Given the description of an element on the screen output the (x, y) to click on. 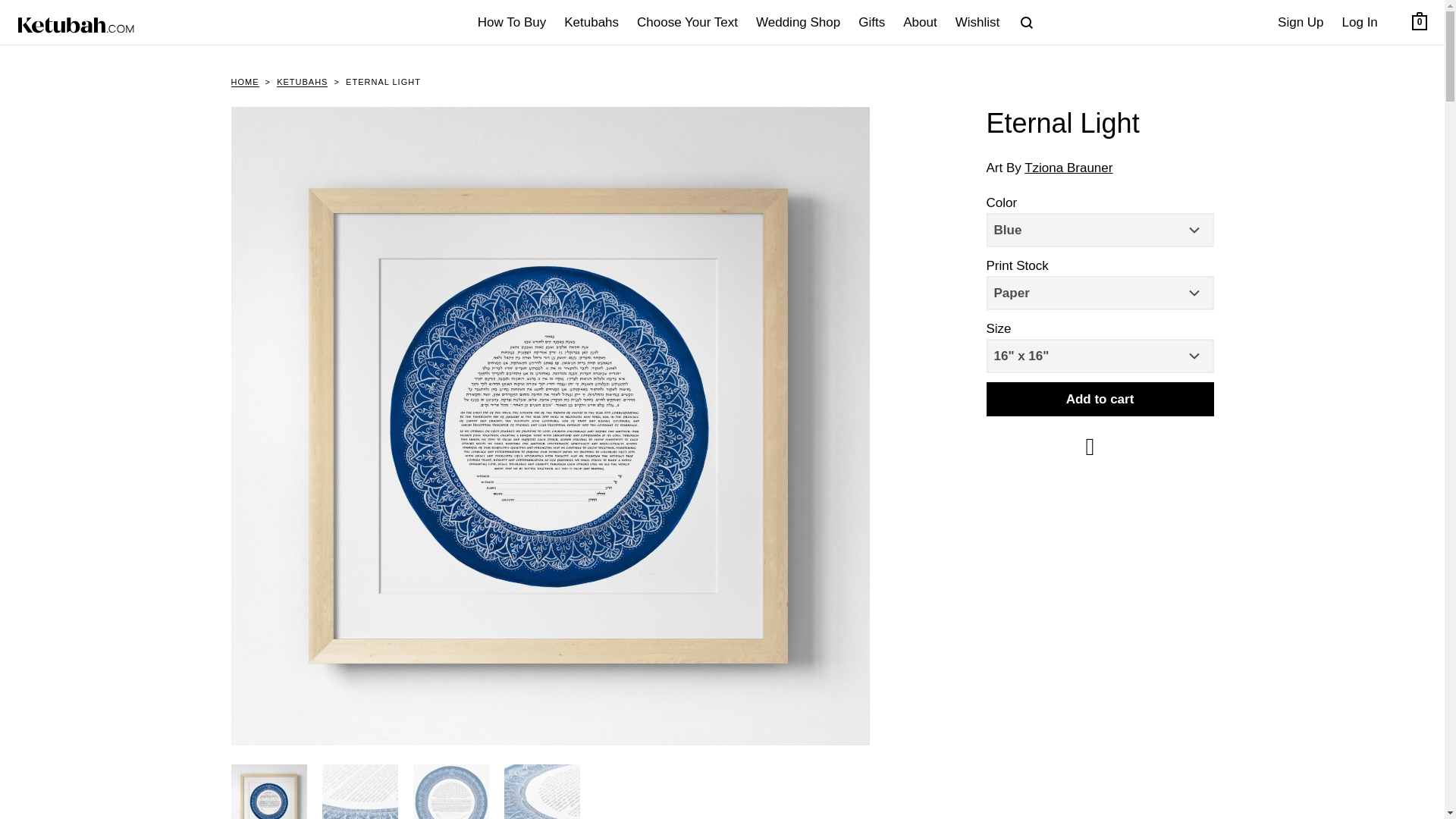
About (918, 22)
Wedding Shop (797, 22)
Choose Your Text (686, 22)
Wishlist (977, 22)
Ketubah (1419, 22)
Log In (76, 25)
KETUBAHS (1360, 22)
Search (301, 81)
Gifts (1027, 22)
HOME (870, 22)
Sign Up (244, 81)
Ketubahs (1300, 22)
